Given the description of an element on the screen output the (x, y) to click on. 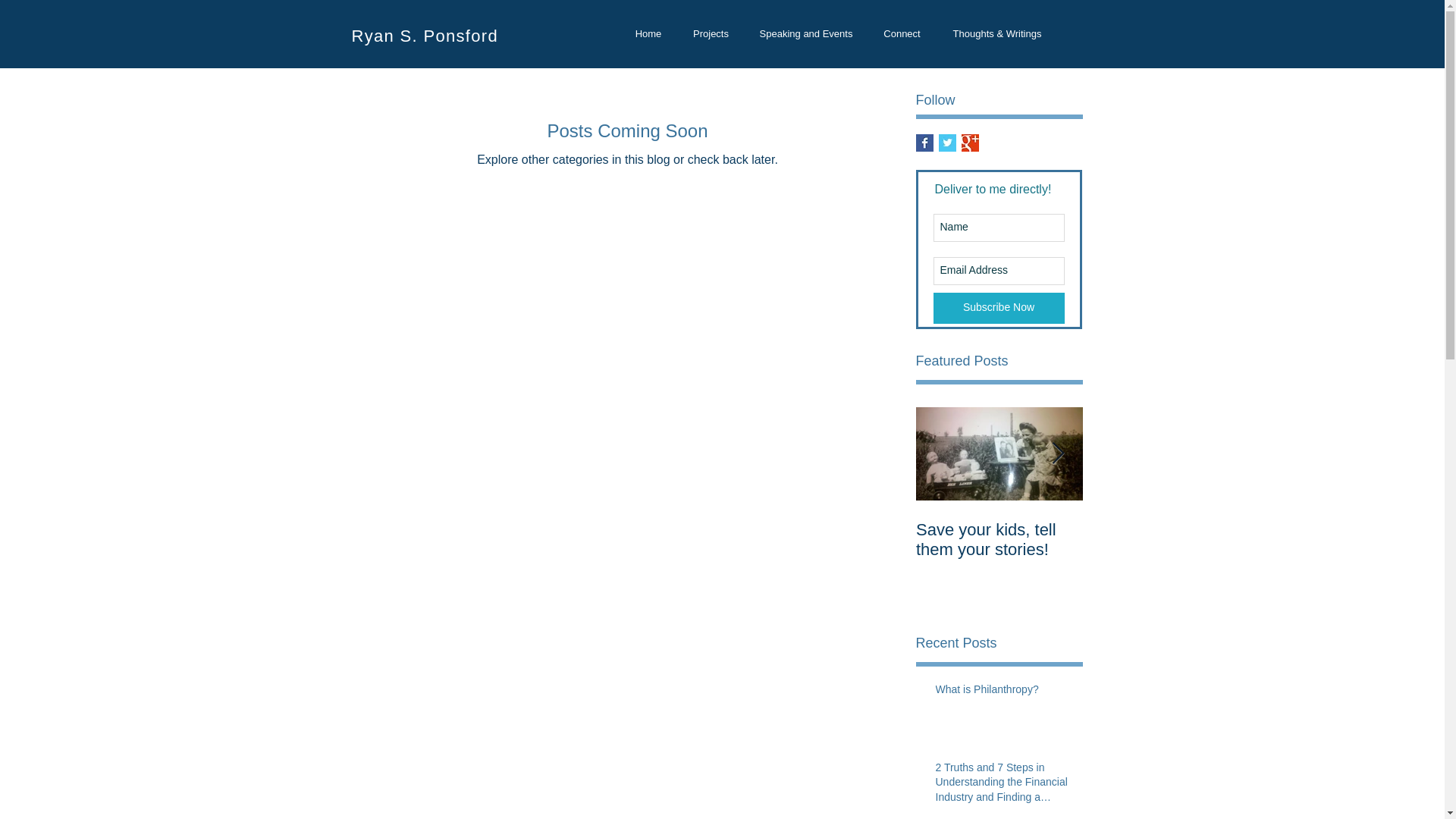
Inheritance - a blessing or a curse? (1166, 539)
Connect (901, 33)
Speaking and Events (805, 33)
Subscribe Now (998, 307)
Projects (711, 33)
Home (647, 33)
What is Philanthropy? (1005, 692)
Save your kids, tell them your stories! (999, 539)
